Given the description of an element on the screen output the (x, y) to click on. 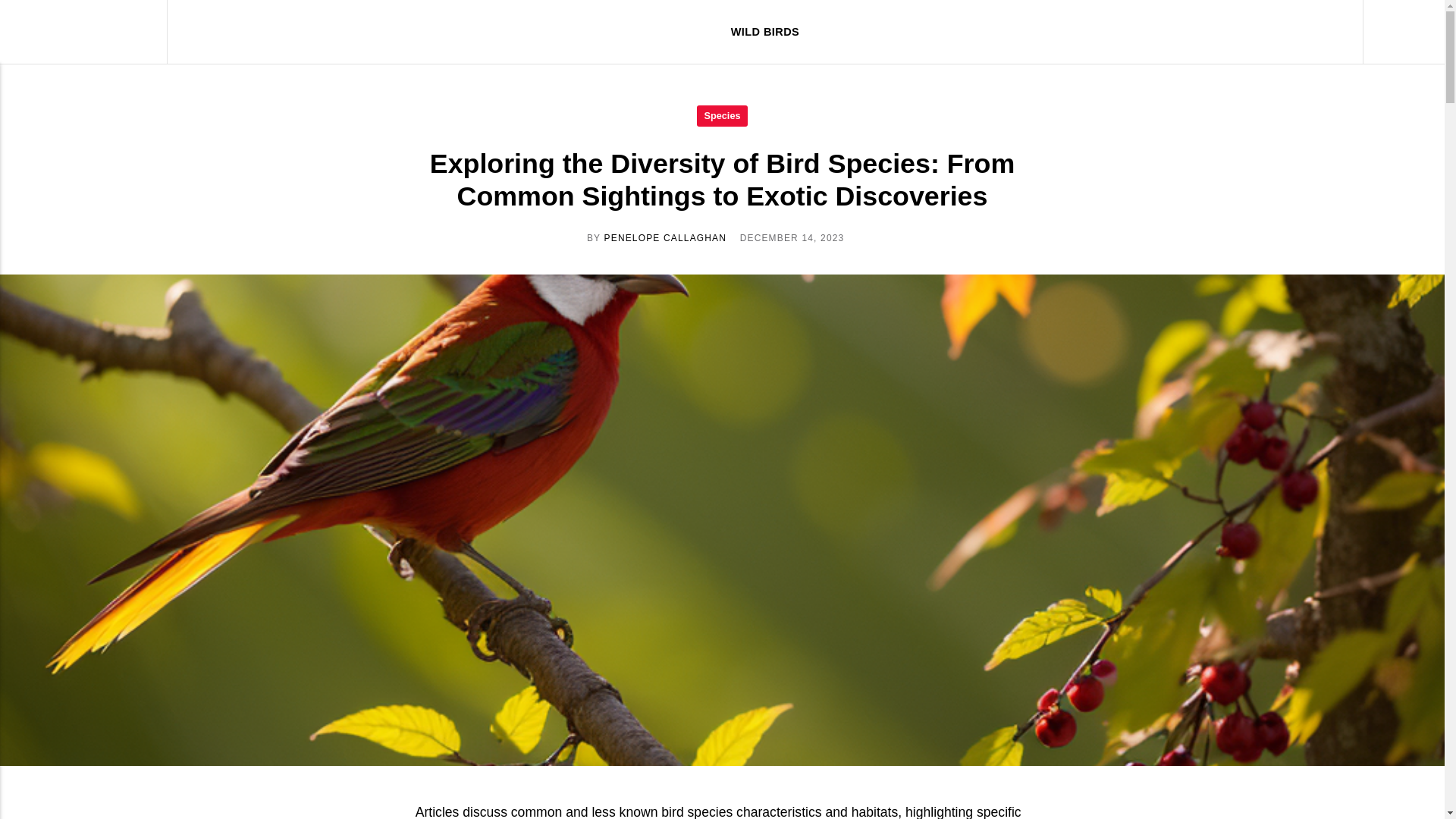
Species (722, 115)
PENELOPE CALLAGHAN (665, 237)
Wild Birds (94, 32)
WILD BIRDS (764, 31)
